Given the description of an element on the screen output the (x, y) to click on. 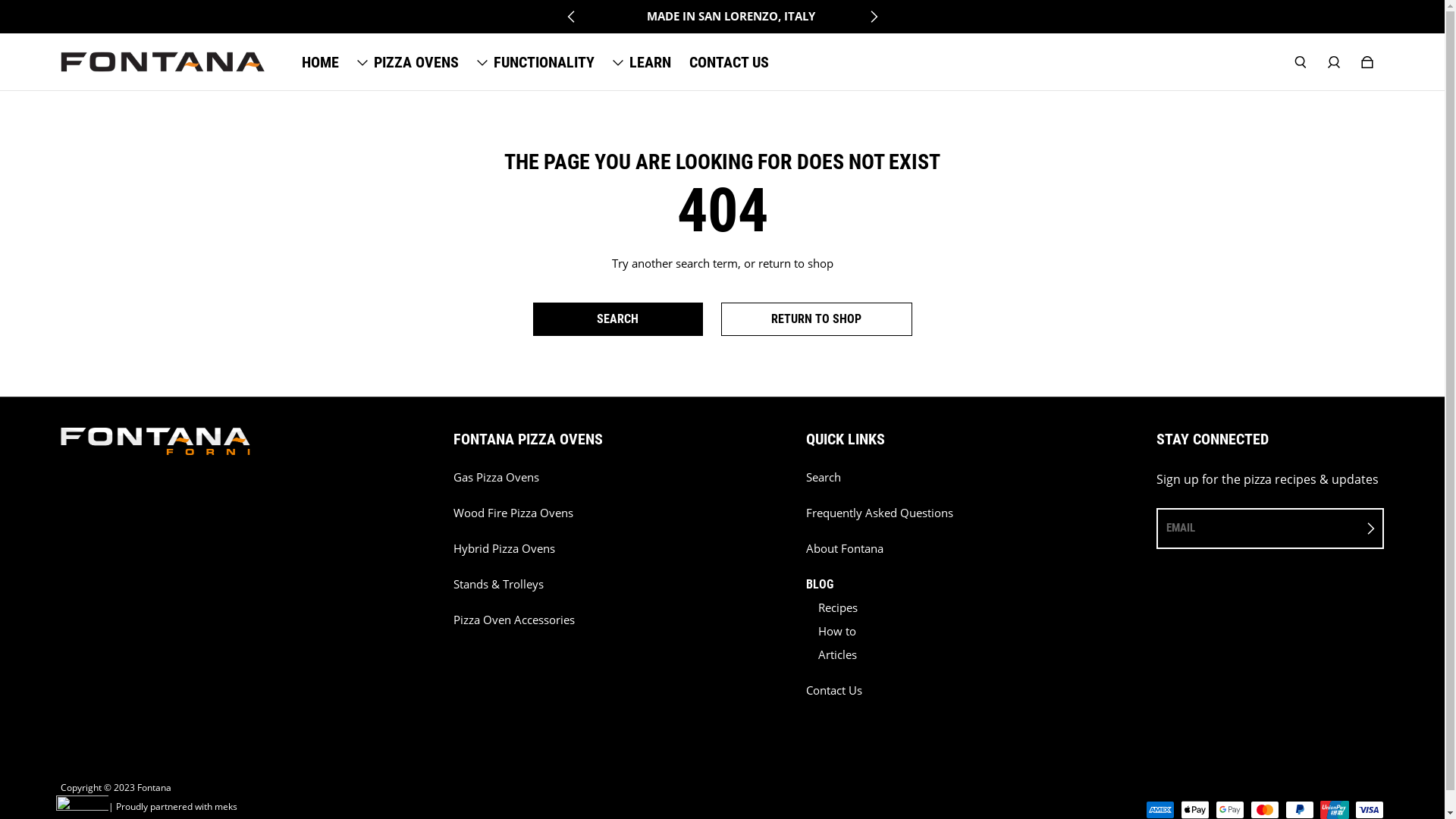
Articles Element type: text (834, 654)
Search Element type: text (823, 477)
HOME Element type: text (319, 61)
Hybrid Pizza Ovens Element type: text (504, 548)
Frequently Asked Questions Element type: text (879, 512)
1300 794 839 Element type: text (818, 16)
CONTACT US Element type: text (728, 61)
Contact Us Element type: text (834, 690)
About Fontana Element type: text (844, 548)
Pizza Oven Accessories Element type: text (513, 619)
Stands & Trolleys Element type: text (498, 584)
Fontana Element type: text (154, 787)
How to Element type: text (834, 631)
SEARCH Element type: text (617, 318)
Recipes Element type: text (834, 607)
RETURN TO SHOP Element type: text (816, 318)
BLOG Element type: text (819, 584)
Gas Pizza Ovens Element type: text (496, 477)
Proudly partnered with meks Element type: text (176, 806)
Wood Fire Pizza Ovens Element type: text (513, 512)
